Given the description of an element on the screen output the (x, y) to click on. 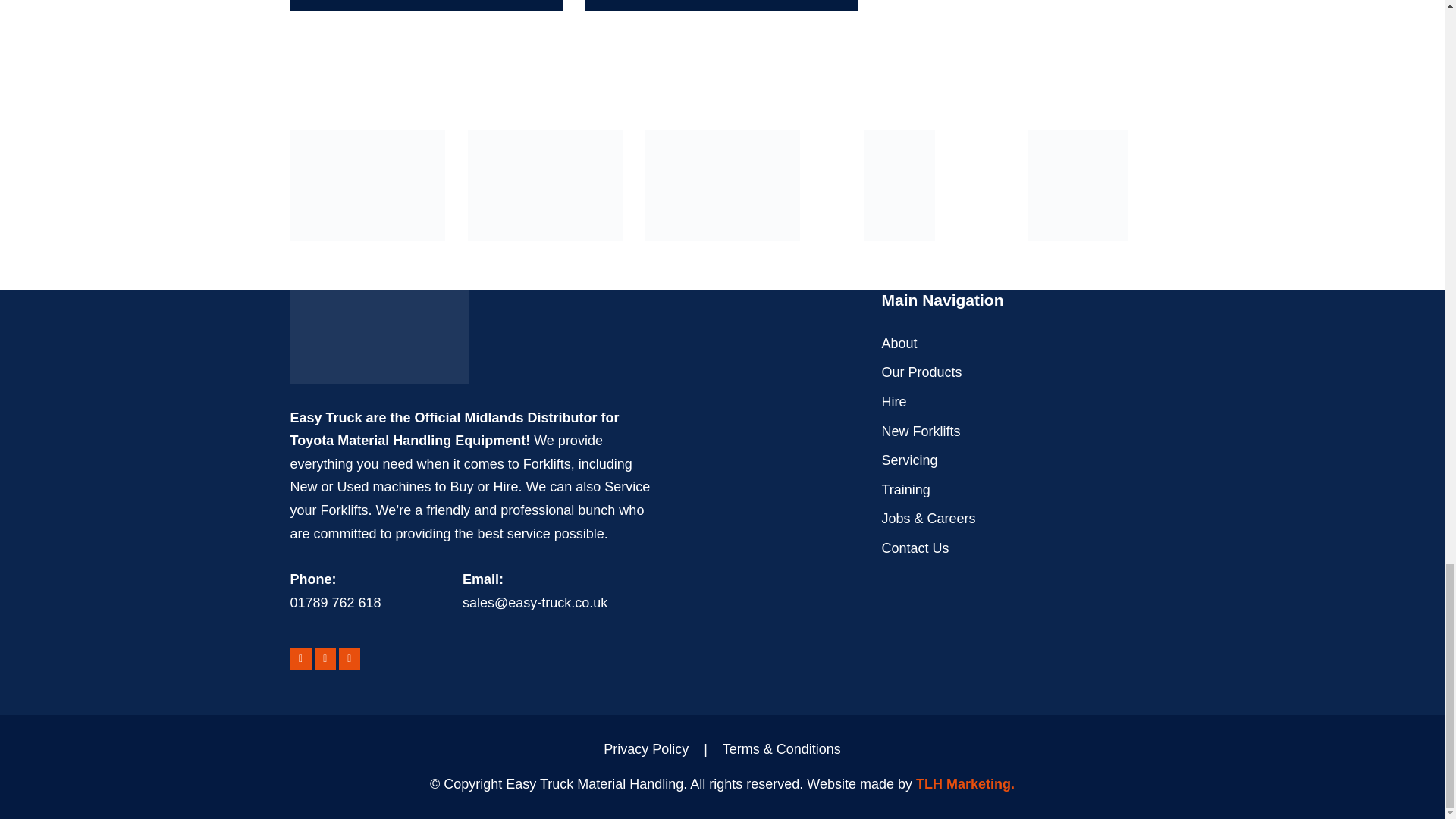
AITT-Logo (722, 185)
Toyota-Material-Handling-Logo (366, 185)
Bendi-Logo (544, 185)
